Given the description of an element on the screen output the (x, y) to click on. 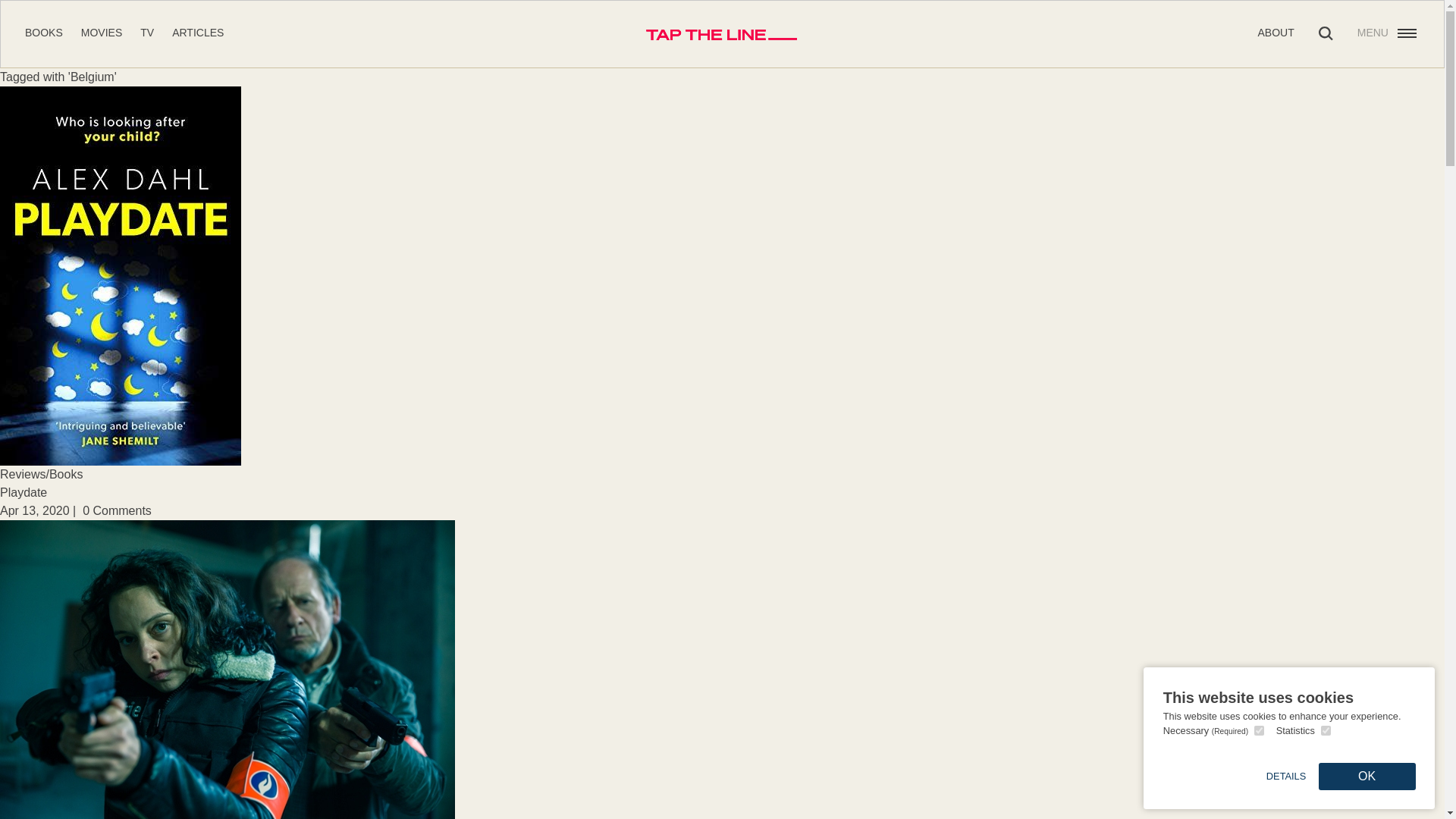
MOVIES (101, 32)
0 Comments (116, 510)
ARTICLES (197, 32)
on (1325, 730)
TV (146, 32)
on (1258, 730)
MENU (1387, 33)
ABOUT (1275, 32)
Playdate (23, 492)
BOOKS (43, 32)
